Given the description of an element on the screen output the (x, y) to click on. 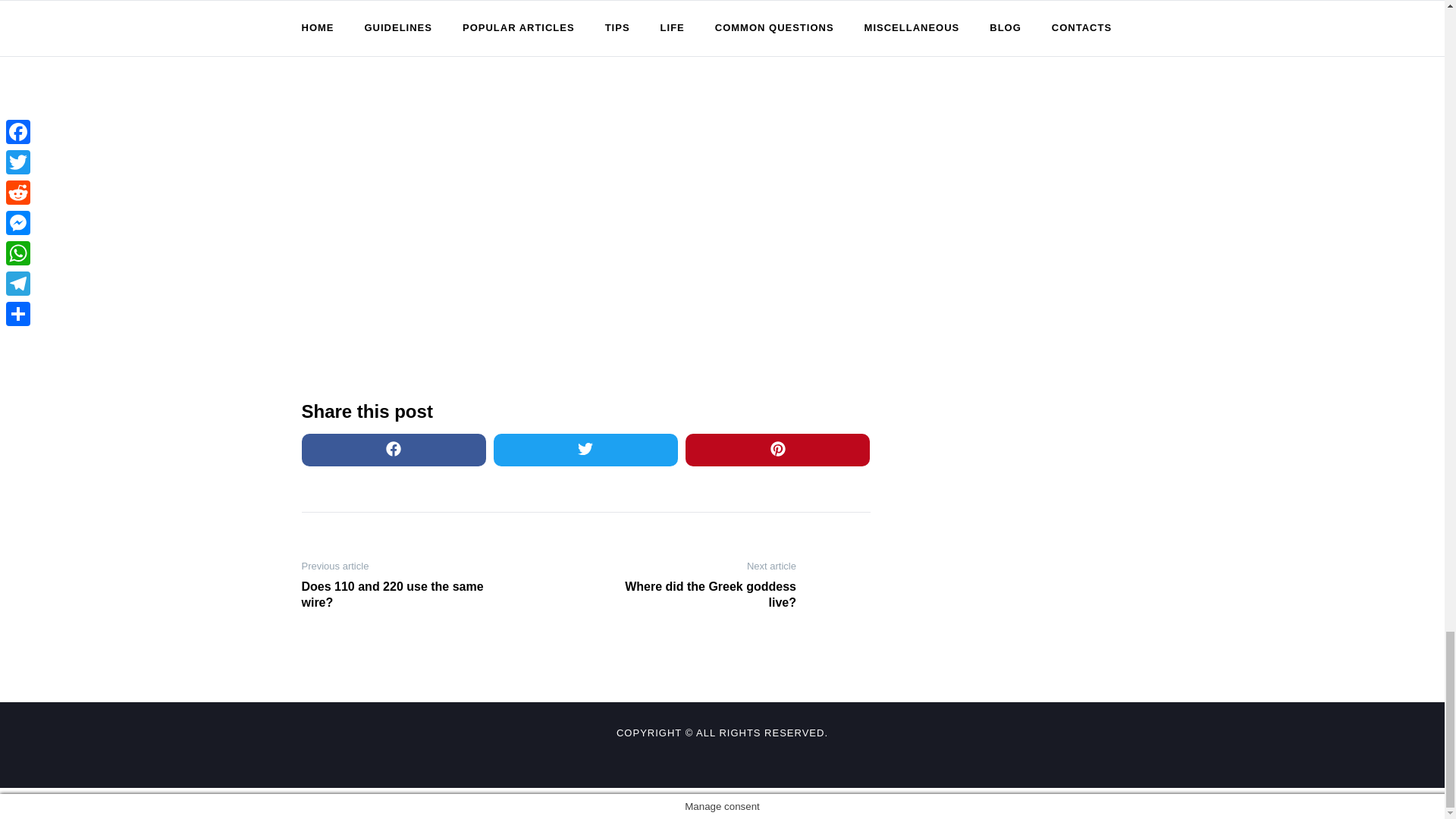
Where did the Greek goddess live? (696, 594)
Does 110 and 220 use the same wire? (400, 594)
